Given the description of an element on the screen output the (x, y) to click on. 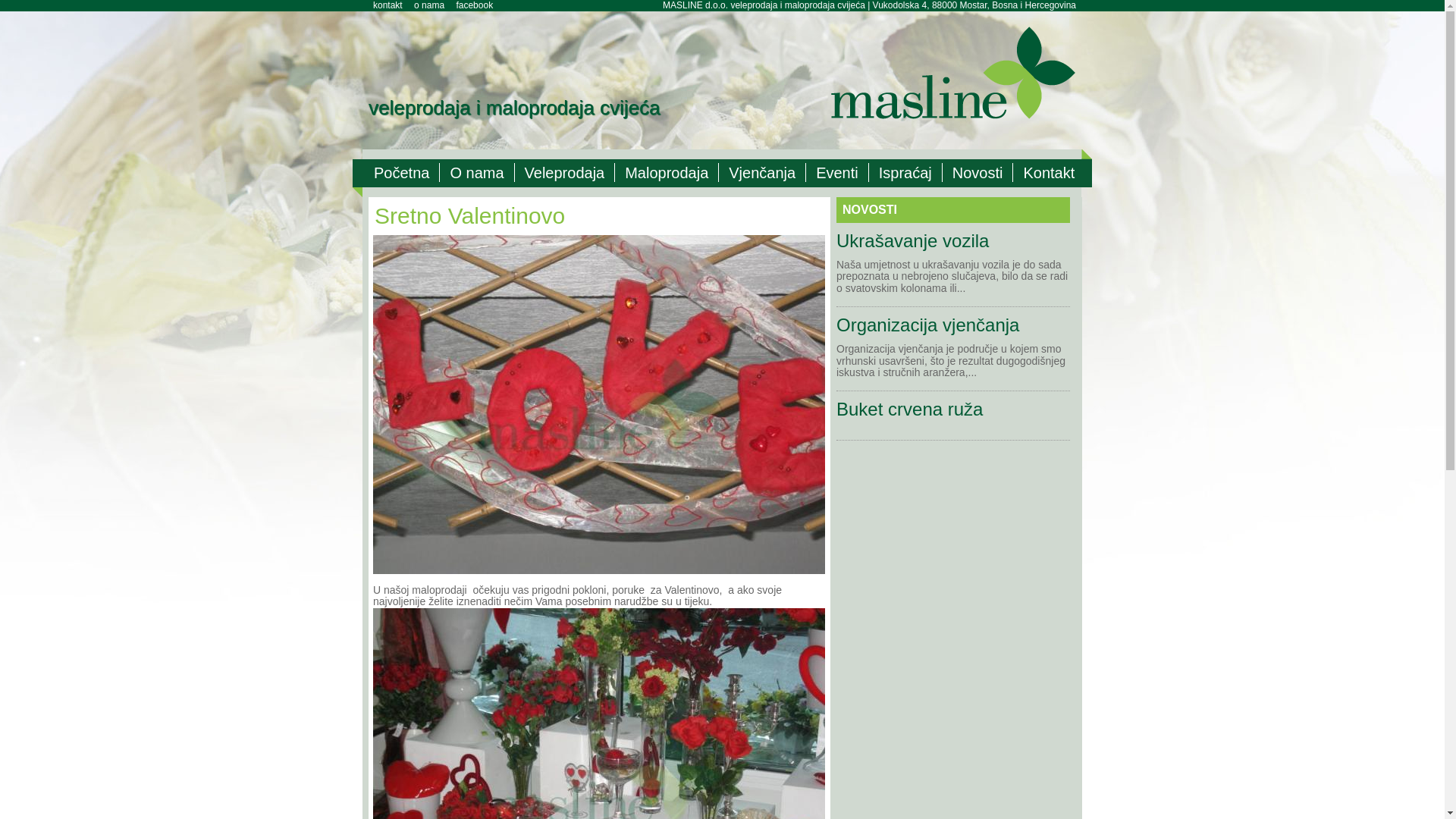
Veleprodaja Element type: text (564, 172)
Maloprodaja Element type: text (666, 172)
Kontakt Element type: text (1048, 172)
Eventi Element type: text (837, 172)
Novosti Element type: text (977, 172)
o nama Element type: text (429, 5)
O nama Element type: text (476, 172)
Sretno Valentinovo Element type: hover (599, 404)
kontakt Element type: text (387, 5)
facebook Element type: text (473, 5)
Sretno Valentinovo Element type: hover (599, 577)
